Given the description of an element on the screen output the (x, y) to click on. 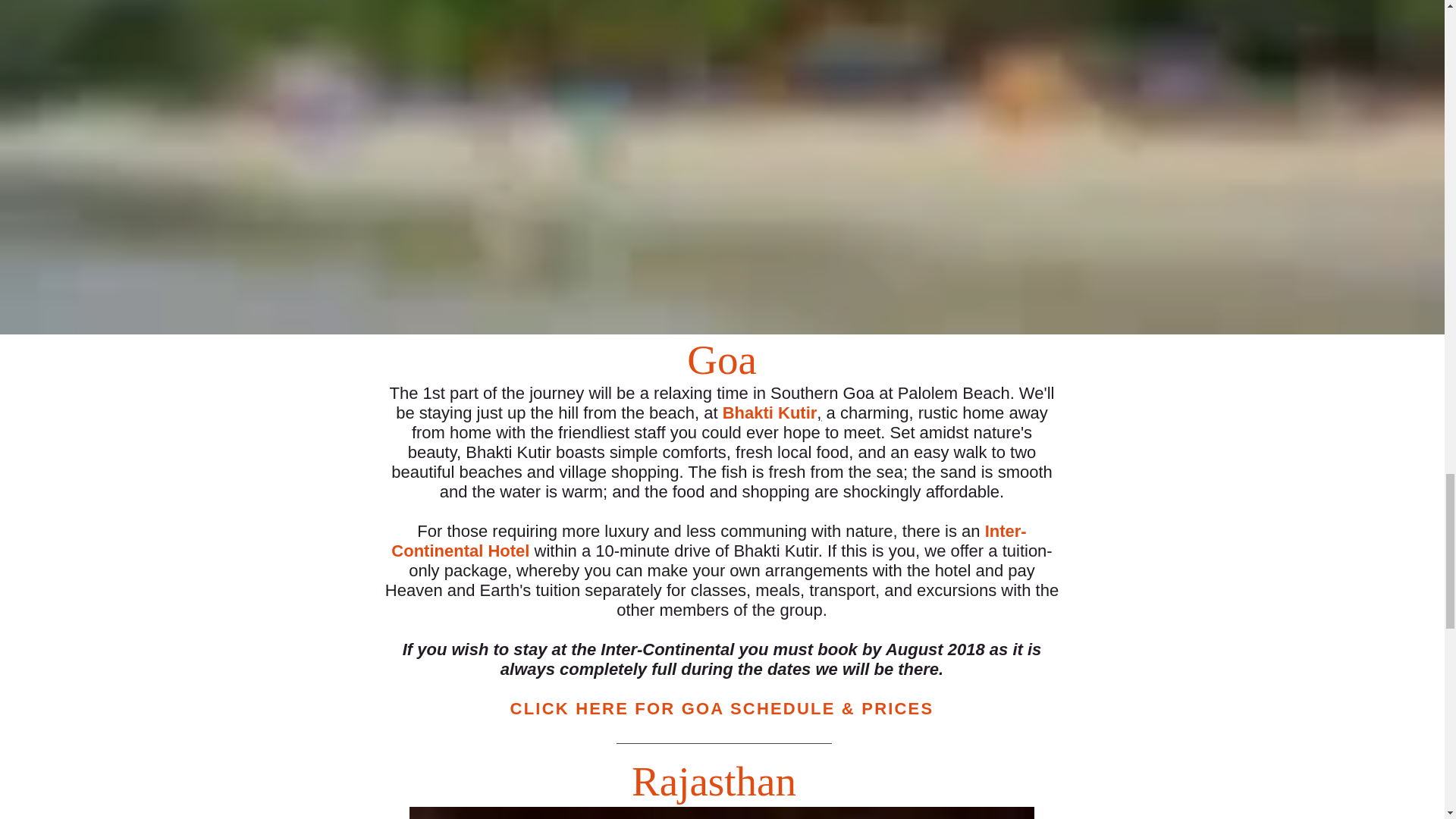
Bhakti Kutir (769, 412)
Inter-Continental Hotel (708, 540)
, (818, 412)
